Given the description of an element on the screen output the (x, y) to click on. 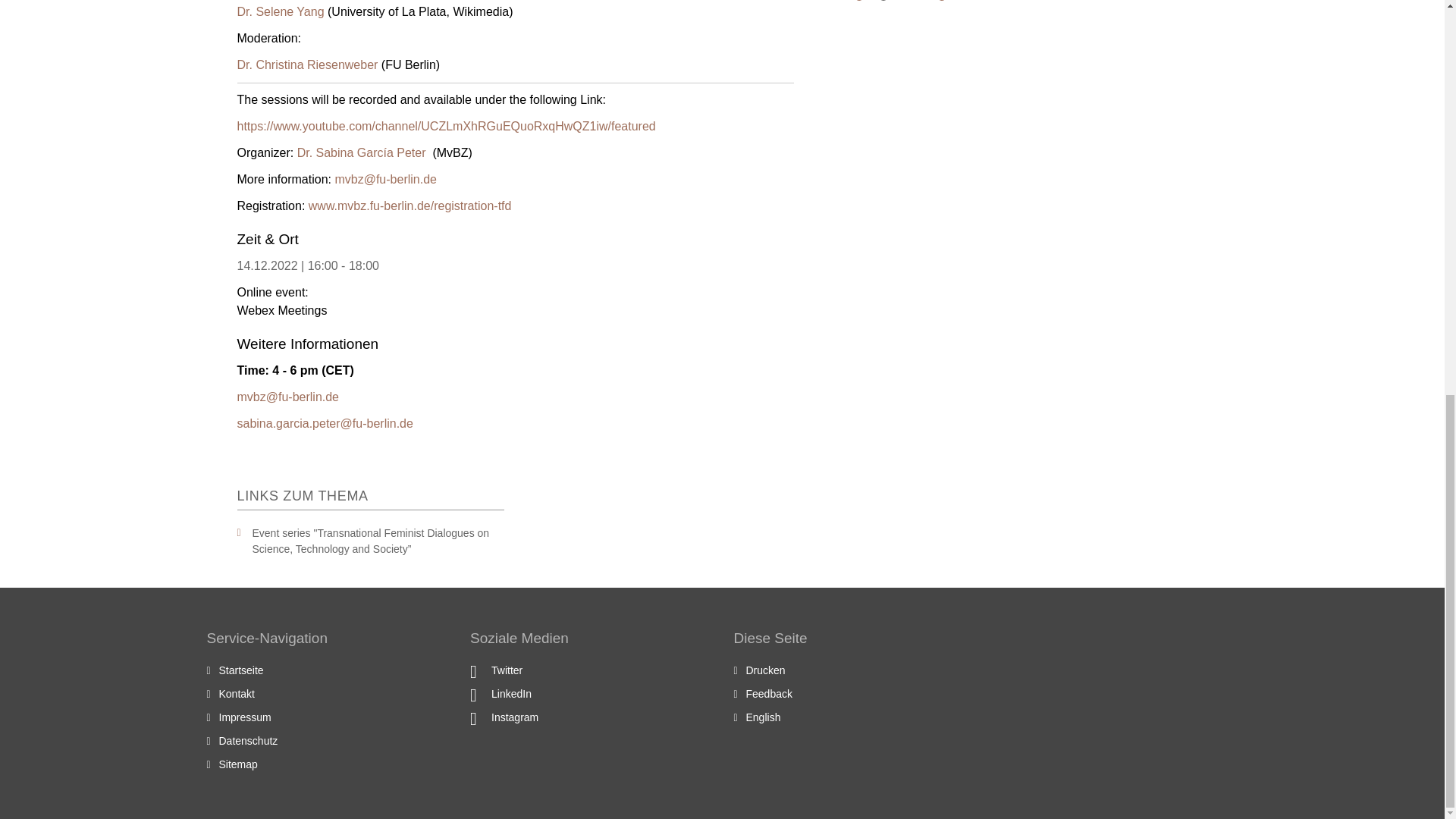
Zur Startseite von: Berlin University Alliance (240, 670)
